Given the description of an element on the screen output the (x, y) to click on. 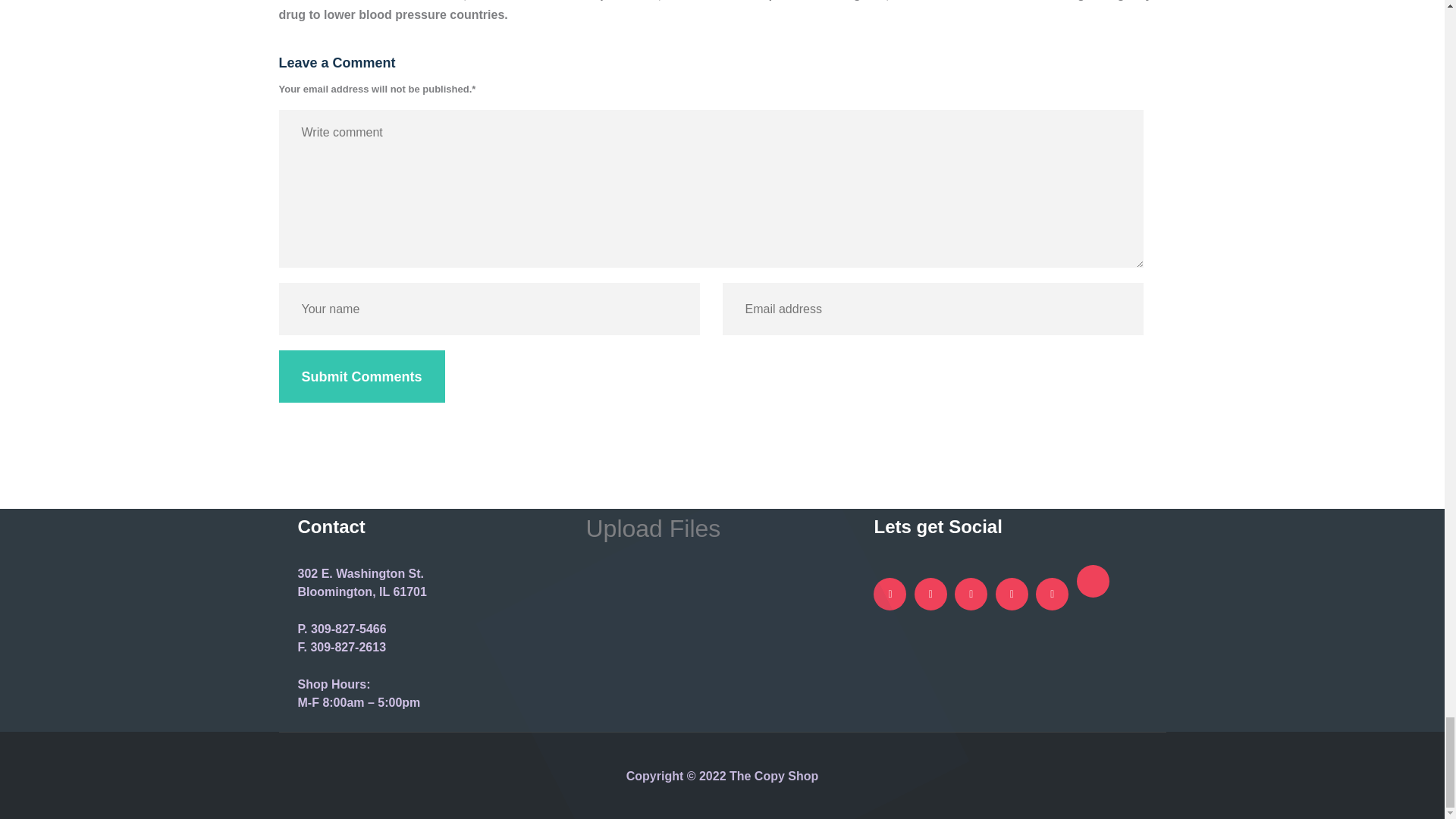
Submit Comments (362, 376)
